Given the description of an element on the screen output the (x, y) to click on. 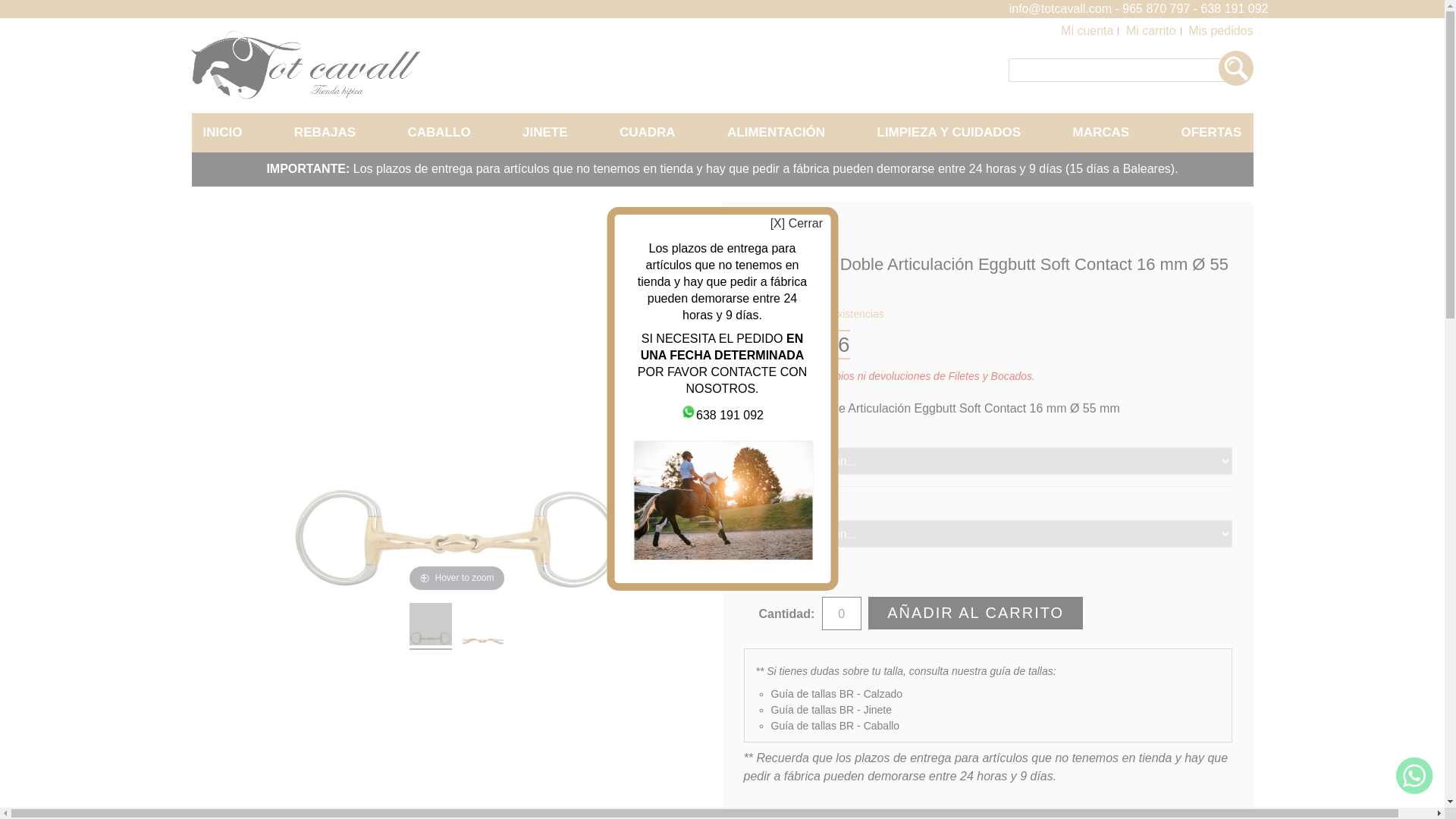
INICIO (221, 132)
638 191 092 (728, 414)
Mis pedidos (1220, 30)
0 (841, 613)
Mi carrito (1152, 30)
Mi cuenta (1089, 30)
REBAJAS (324, 132)
Mis pedidos (1220, 30)
CABALLO (438, 132)
Tienda online de hipica. Ecuestre online (306, 95)
Ir (1234, 67)
Mi cuenta (1089, 30)
Mi carrito (1152, 30)
Cantidad (841, 613)
